Given the description of an element on the screen output the (x, y) to click on. 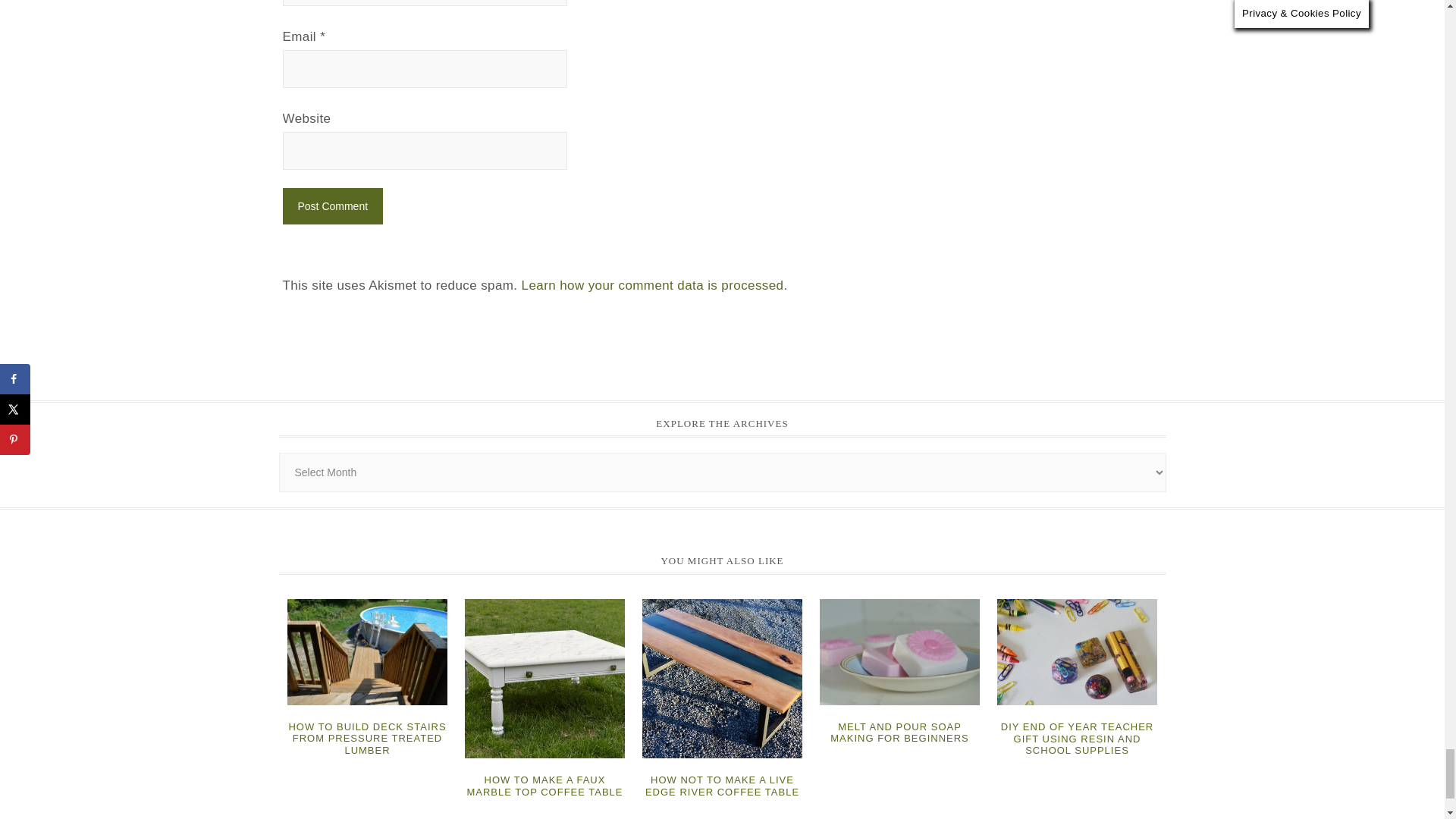
Post Comment (332, 206)
